Given the description of an element on the screen output the (x, y) to click on. 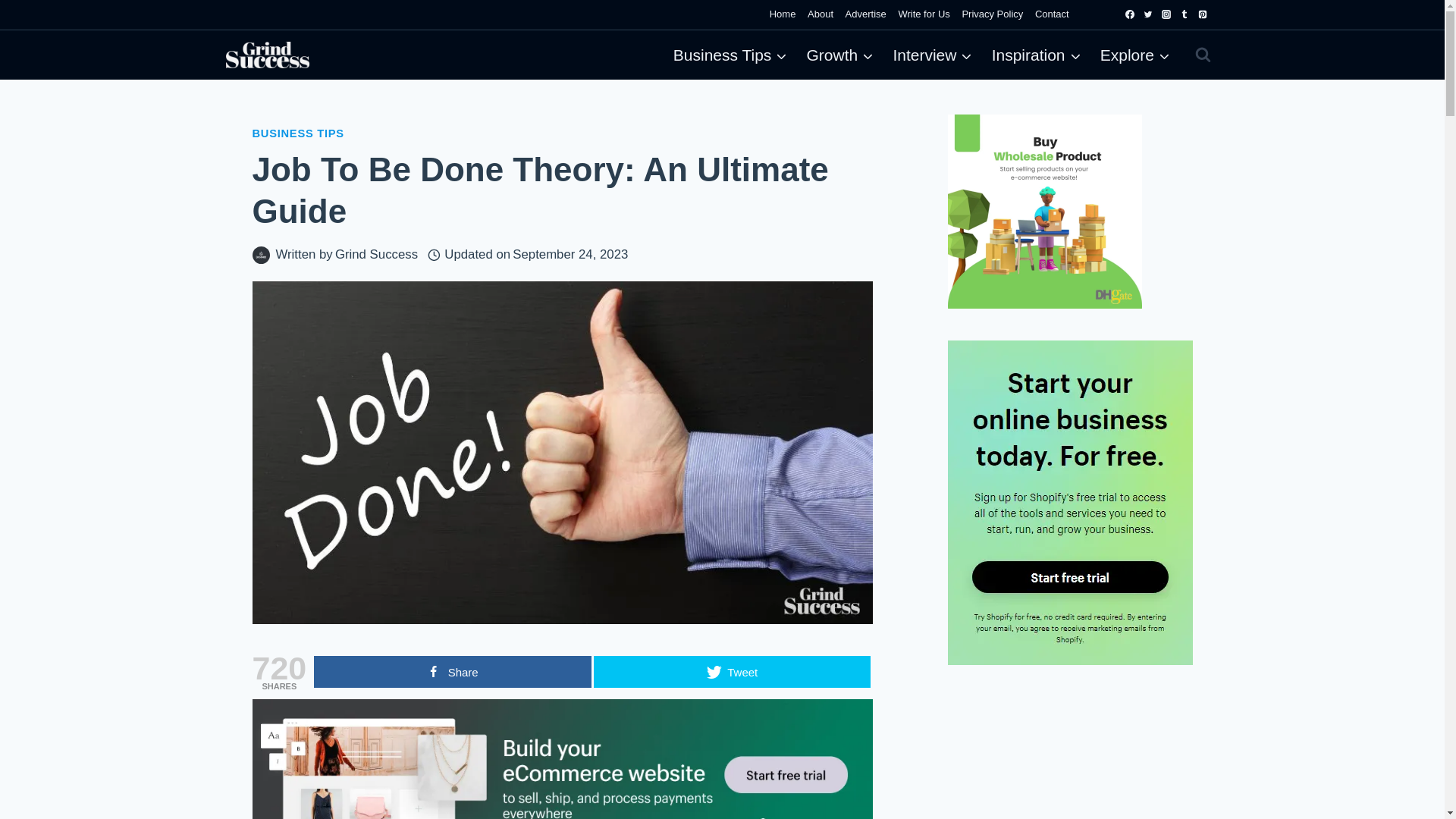
Advertise (866, 14)
Growth (839, 54)
Inspiration (1035, 54)
Home (782, 14)
Job To Be Done Theory: An Ultimate Guide (561, 759)
Business Tips (729, 54)
Explore (1134, 54)
Contact (1051, 14)
Privacy Policy (992, 14)
Interview (932, 54)
